Given the description of an element on the screen output the (x, y) to click on. 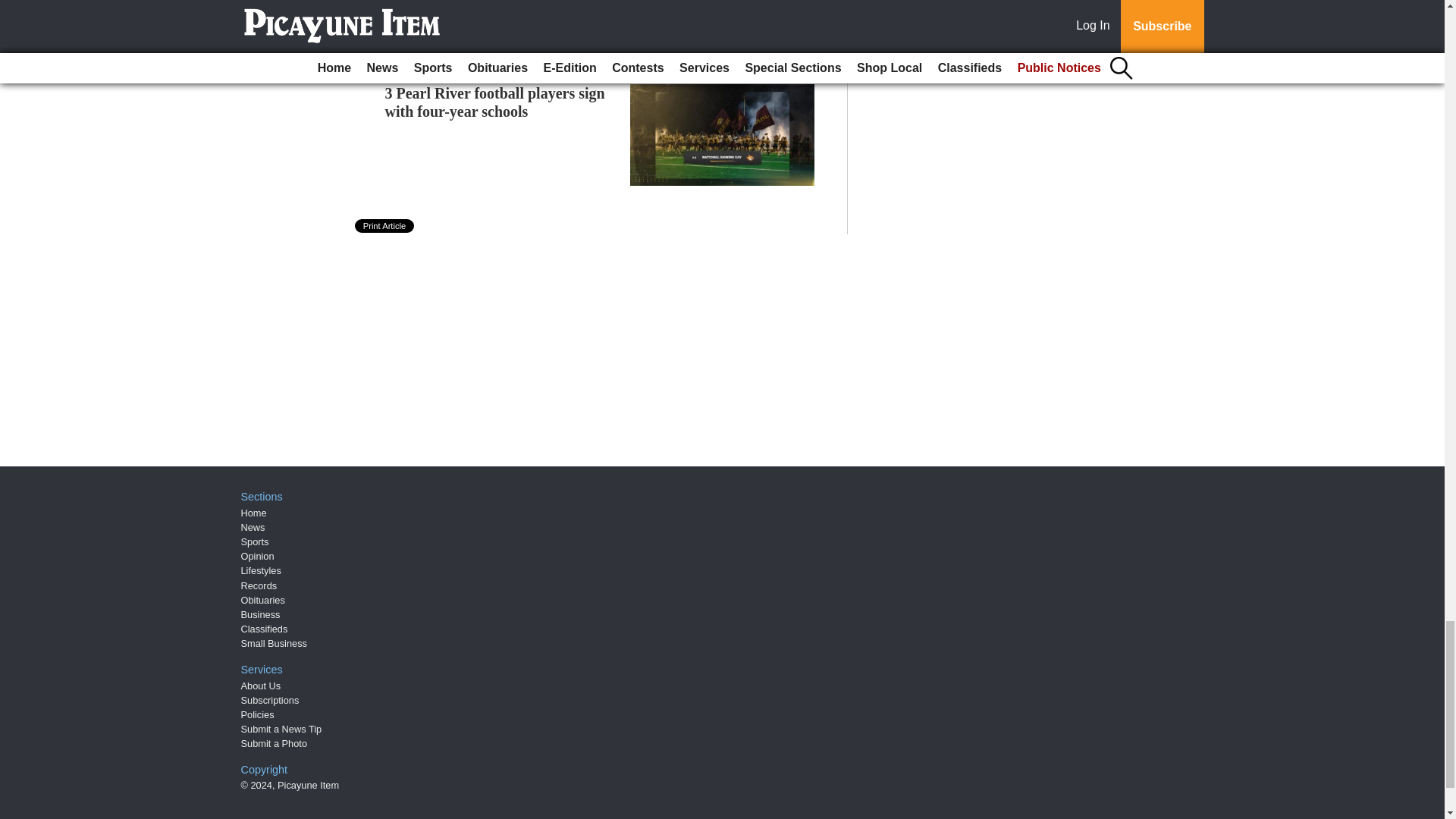
3 Pearl River football players sign with four-year schools (495, 102)
3 Pearl River football players sign with four-year schools (495, 102)
Print Article (384, 225)
